Given the description of an element on the screen output the (x, y) to click on. 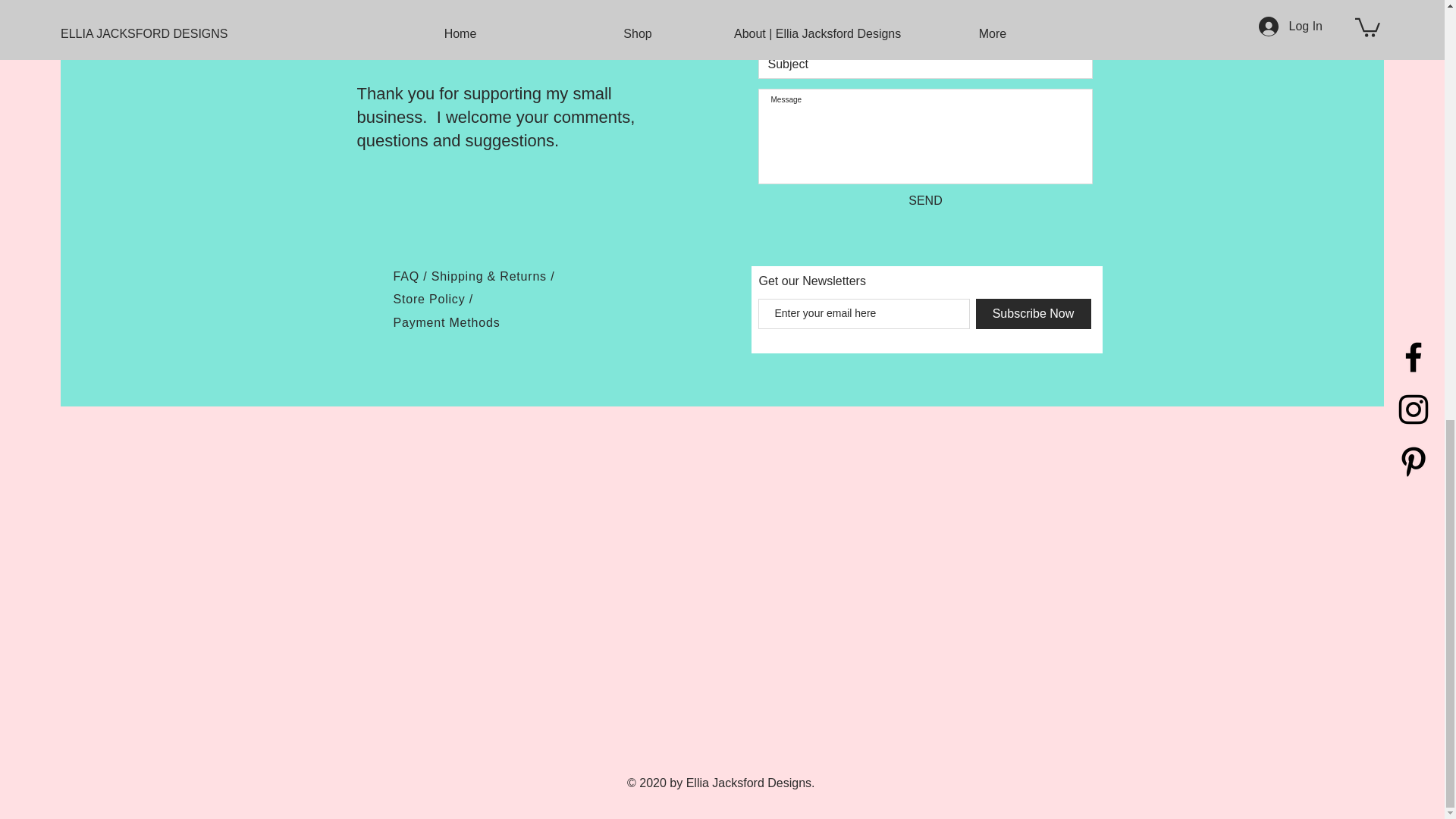
Payment Methods (446, 322)
Store Policy  (430, 298)
Subscribe Now (1032, 313)
SEND (925, 200)
